Given the description of an element on the screen output the (x, y) to click on. 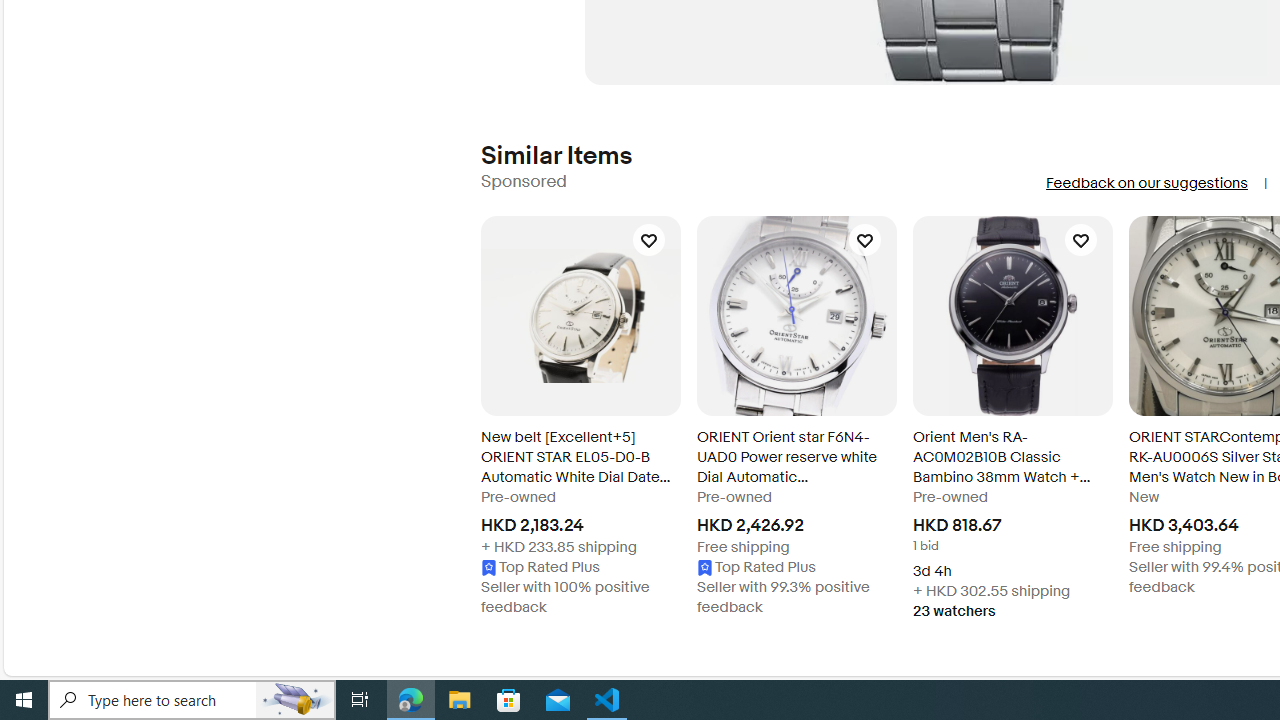
Feedback on our suggestions (1146, 183)
